Given the description of an element on the screen output the (x, y) to click on. 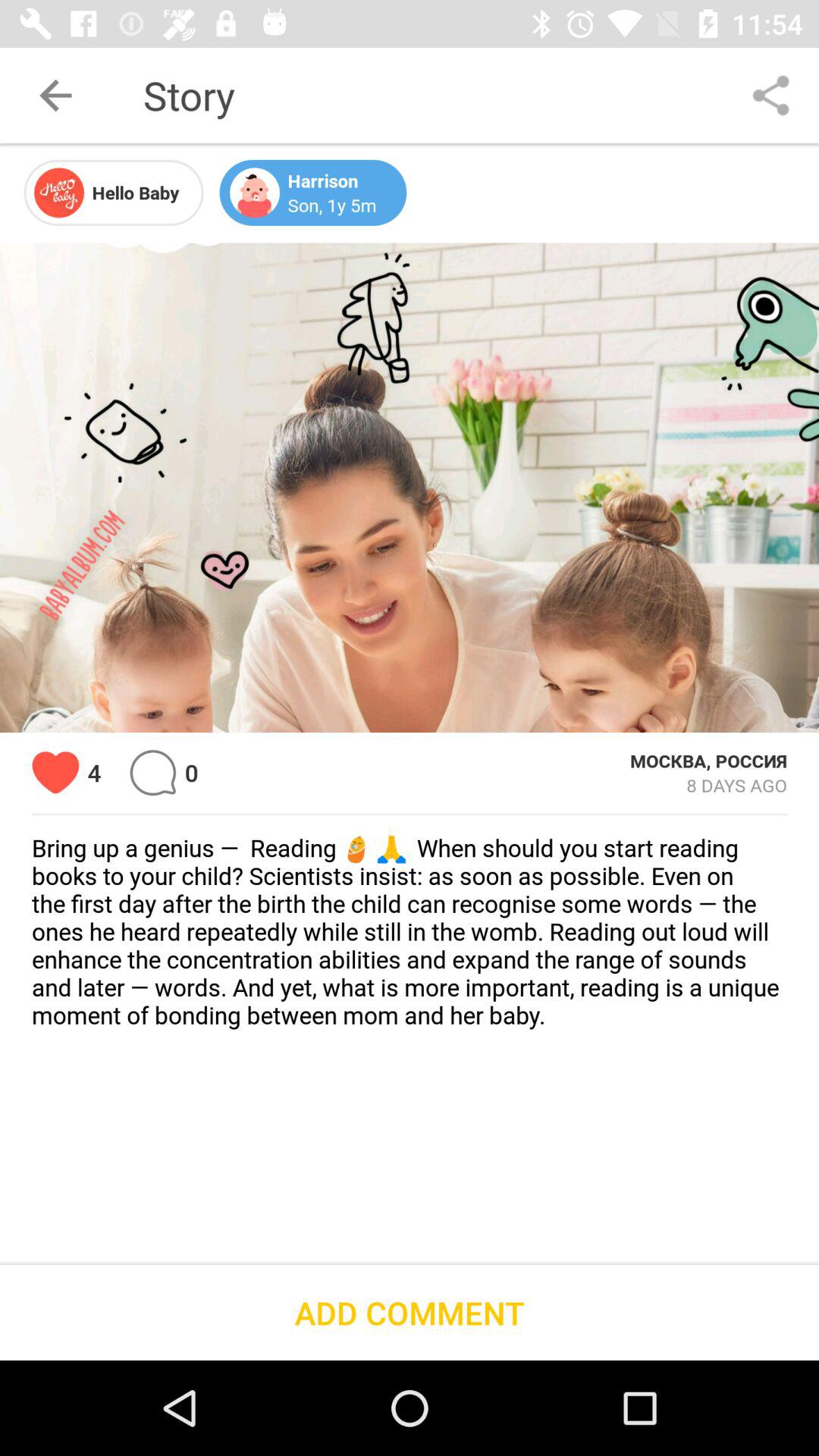
turn off icon next to the 4 item (55, 772)
